Given the description of an element on the screen output the (x, y) to click on. 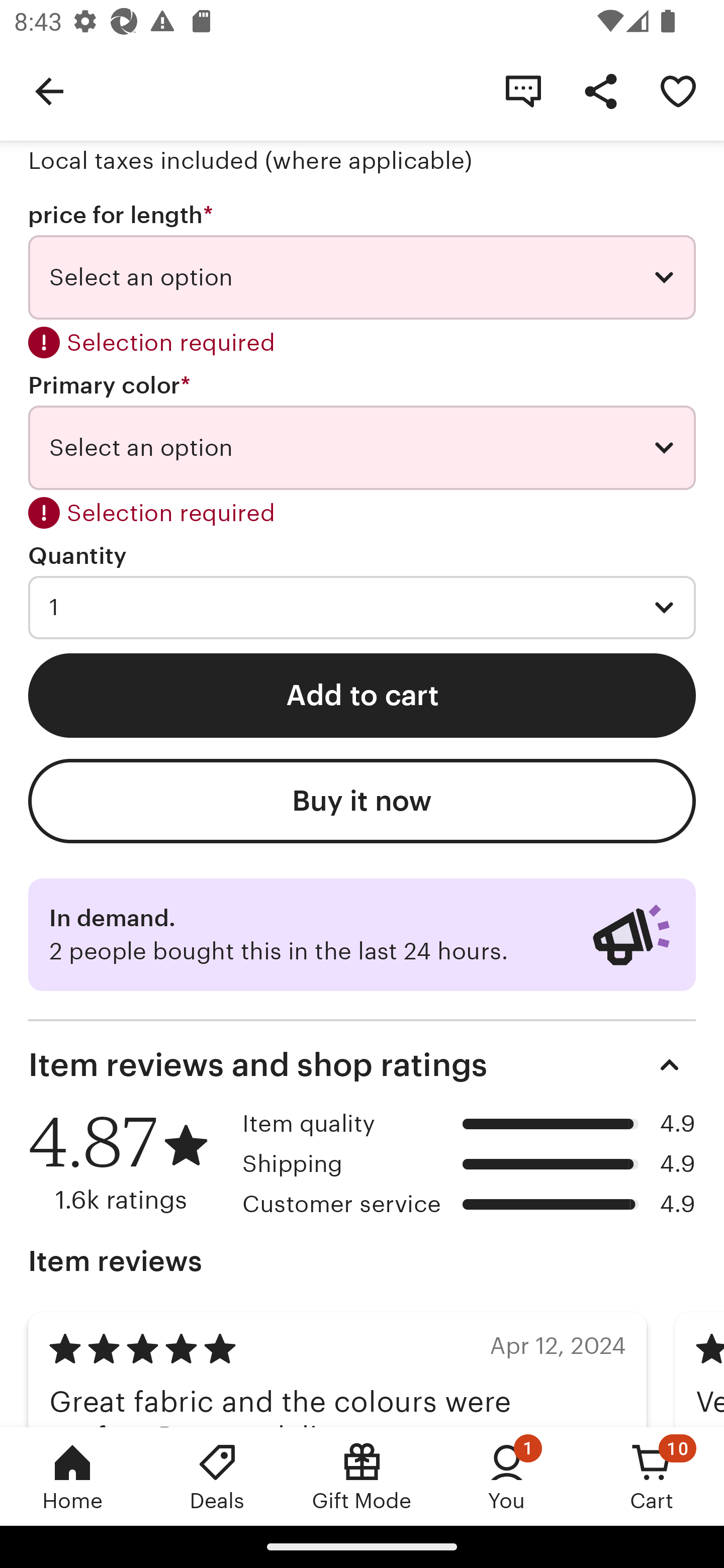
Navigate up (49, 90)
Contact shop (523, 90)
Share (600, 90)
Select an option (361, 277)
Select an option (361, 447)
Quantity (77, 555)
1 (361, 607)
Add to cart (361, 695)
Buy it now (361, 800)
Item reviews and shop ratings (362, 1064)
4.87 1.6k ratings (128, 1161)
Deals (216, 1475)
Gift Mode (361, 1475)
You, 1 new notification You (506, 1475)
Cart, 10 new notifications Cart (651, 1475)
